Given the description of an element on the screen output the (x, y) to click on. 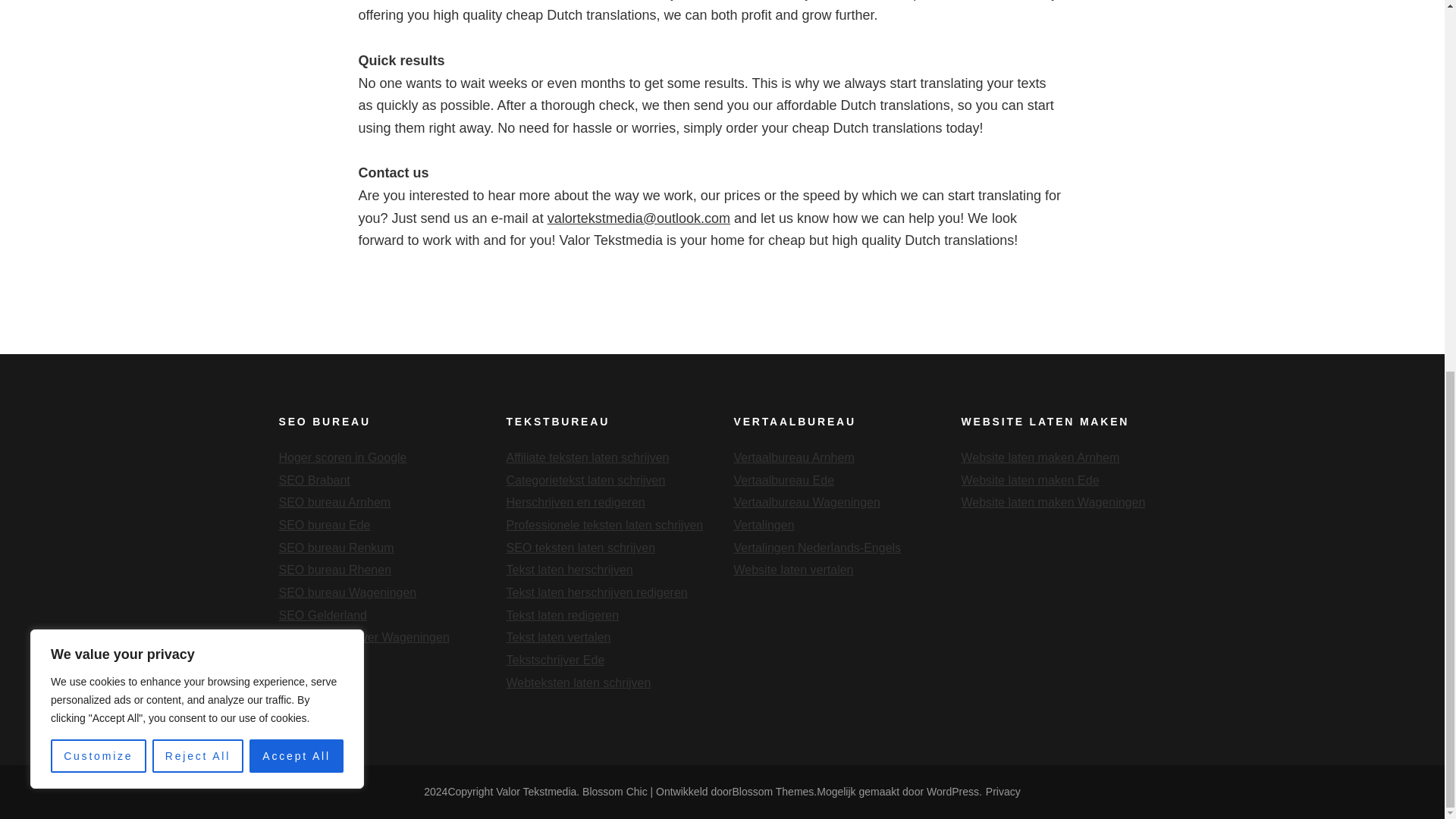
Accept All (295, 80)
Customize (98, 80)
Reject All (198, 80)
